Given the description of an element on the screen output the (x, y) to click on. 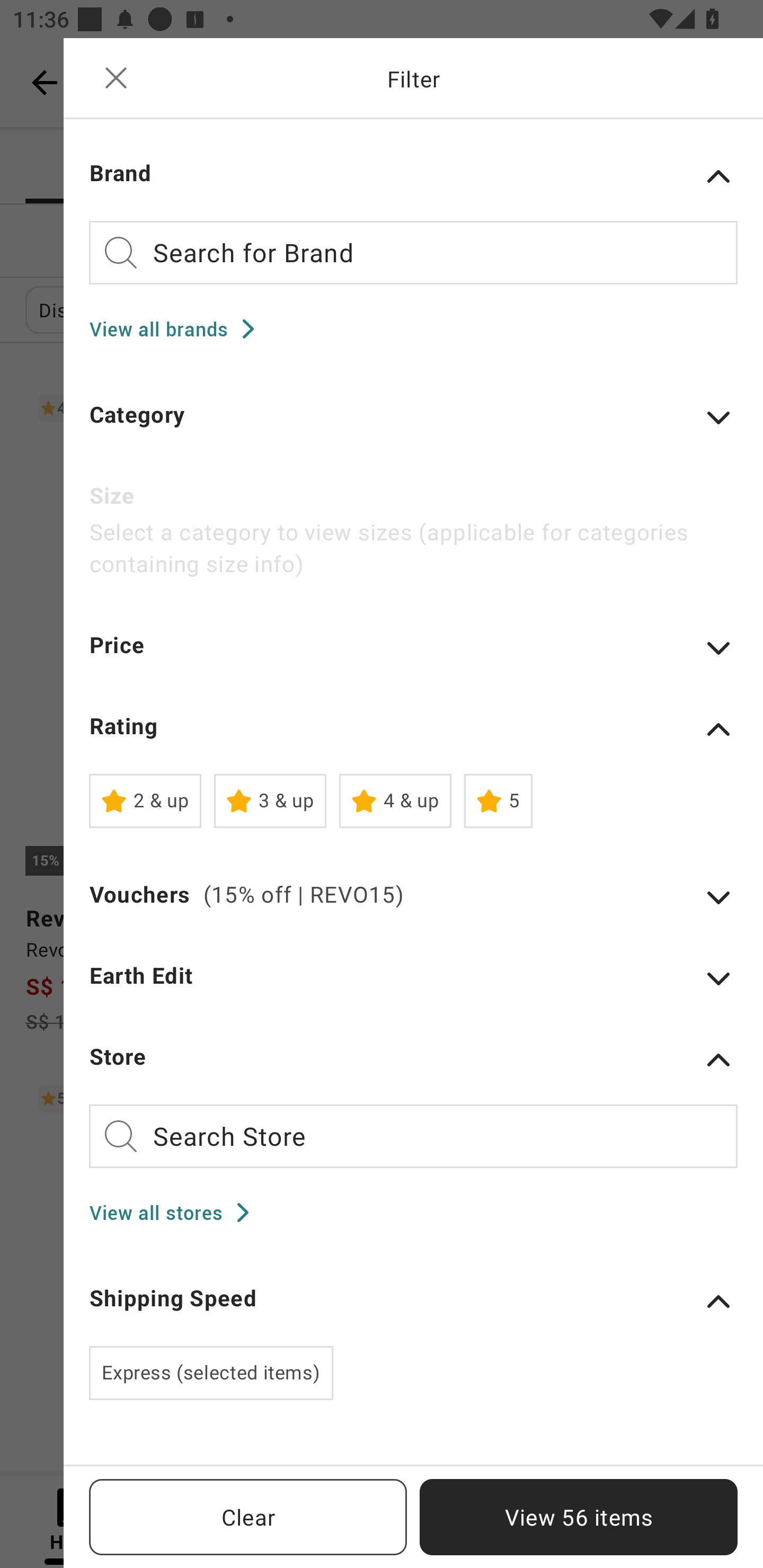
Brand (413, 176)
Search for Brand (413, 252)
View all brands (177, 328)
Category (413, 426)
Price (413, 656)
Rating (413, 728)
2 & up (145, 800)
3 & up (270, 800)
4 & up (394, 800)
5 (497, 800)
Vouchers (15% off | REVO15) (413, 906)
Earth Edit (413, 987)
Store (413, 1059)
Search Store (413, 1135)
View all stores (174, 1212)
Shipping Speed (413, 1301)
Express (selected items) (211, 1372)
Clear (247, 1516)
View 56 items (578, 1516)
